Given the description of an element on the screen output the (x, y) to click on. 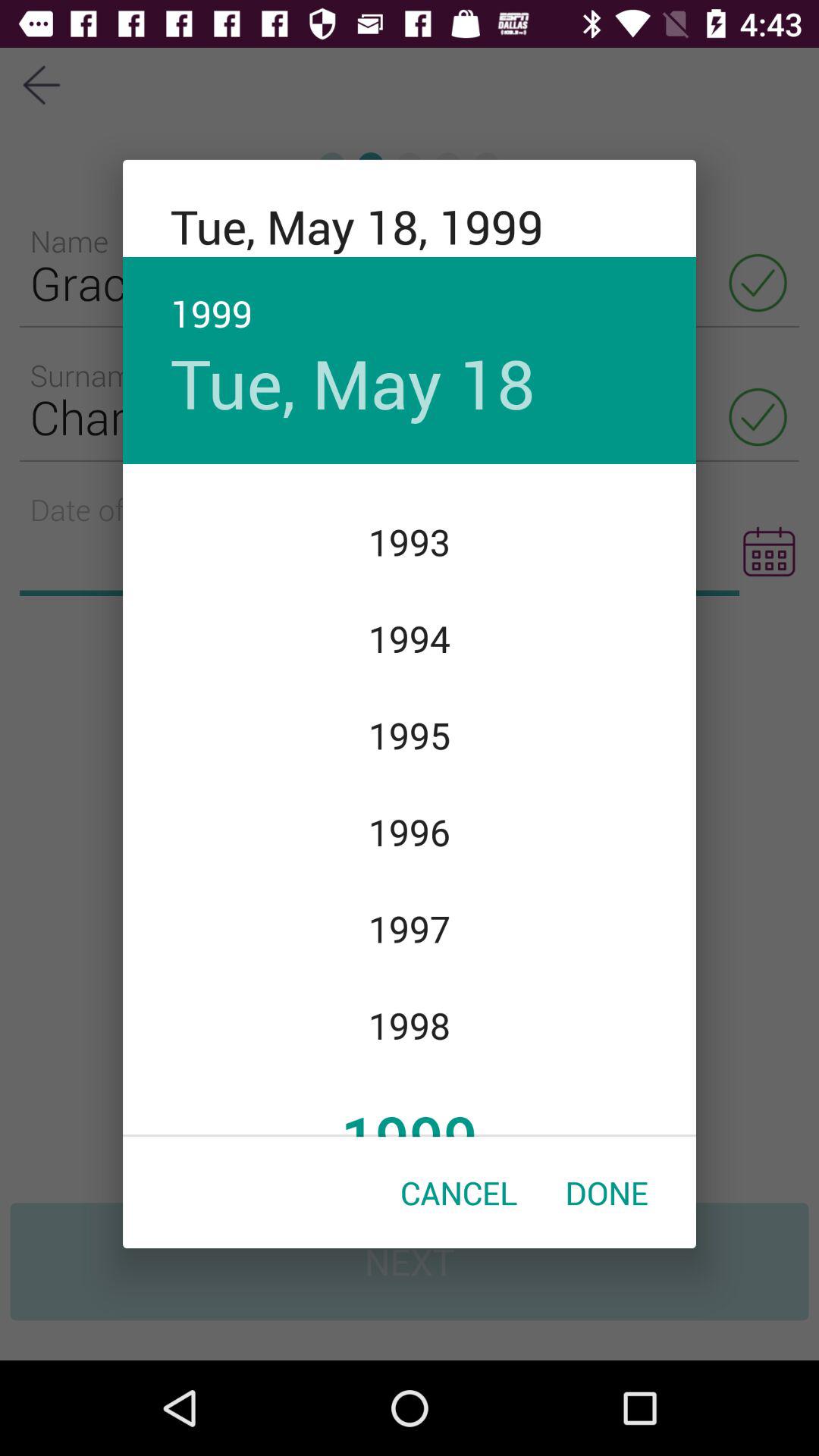
press icon below the 1999 item (458, 1192)
